Given the description of an element on the screen output the (x, y) to click on. 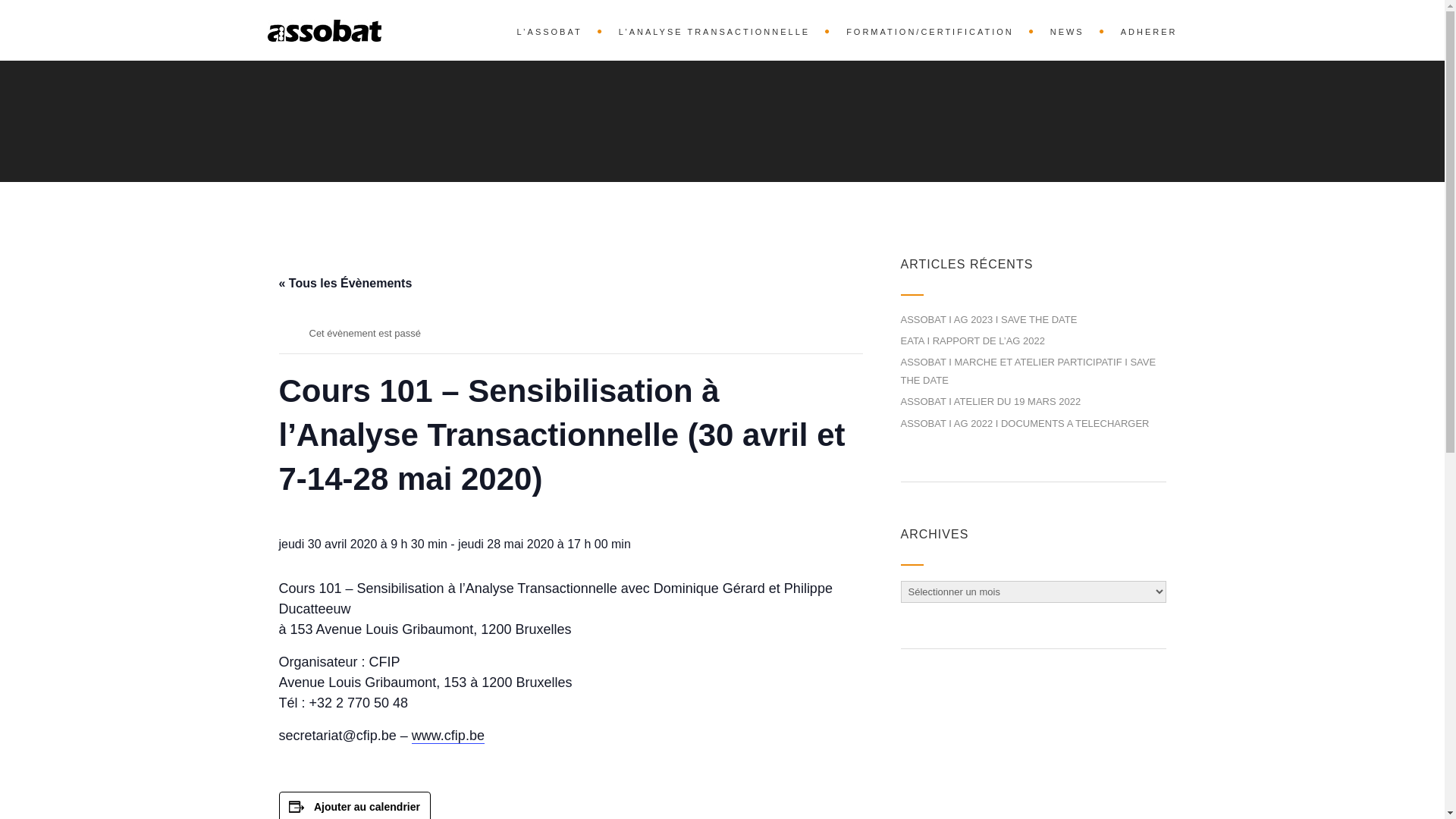
www.cfip.be Element type: text (447, 735)
ADHERER Element type: text (1141, 30)
NEWS Element type: text (1070, 30)
ASSOBAT I AG 2023 I SAVE THE DATE Element type: text (988, 319)
ASSOBAT I ATELIER DU 19 MARS 2022 Element type: text (990, 401)
ASSOBAT I MARCHE ET ATELIER PARTICIPATIF I SAVE THE DATE Element type: text (1028, 370)
Ajouter au calendrier Element type: text (366, 806)
ASSOBAT I AG 2022 I DOCUMENTS A TELECHARGER Element type: text (1024, 423)
FORMATION/CERTIFICATION Element type: text (933, 30)
